Given the description of an element on the screen output the (x, y) to click on. 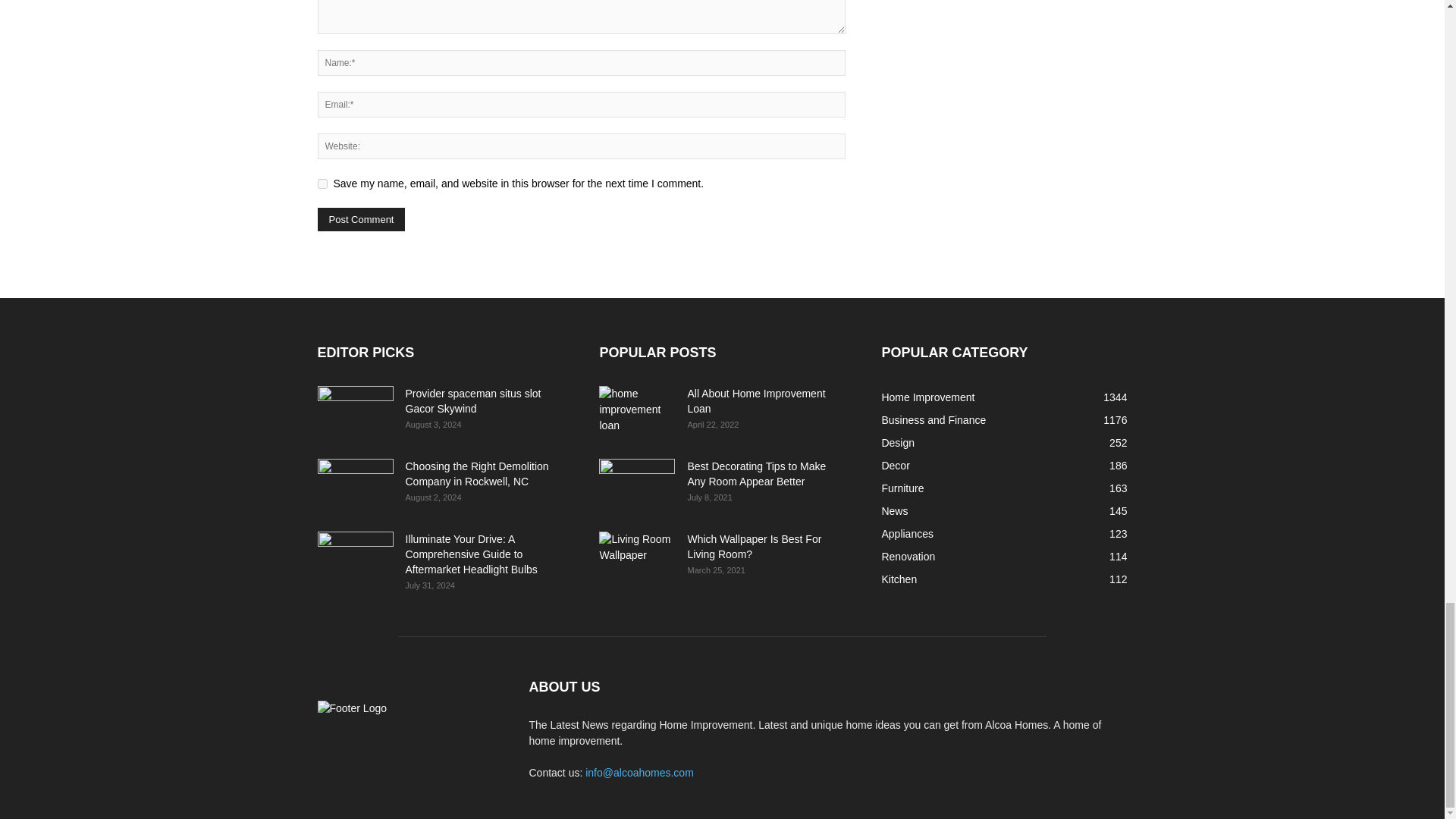
yes (321, 184)
Post Comment (360, 219)
